Given the description of an element on the screen output the (x, y) to click on. 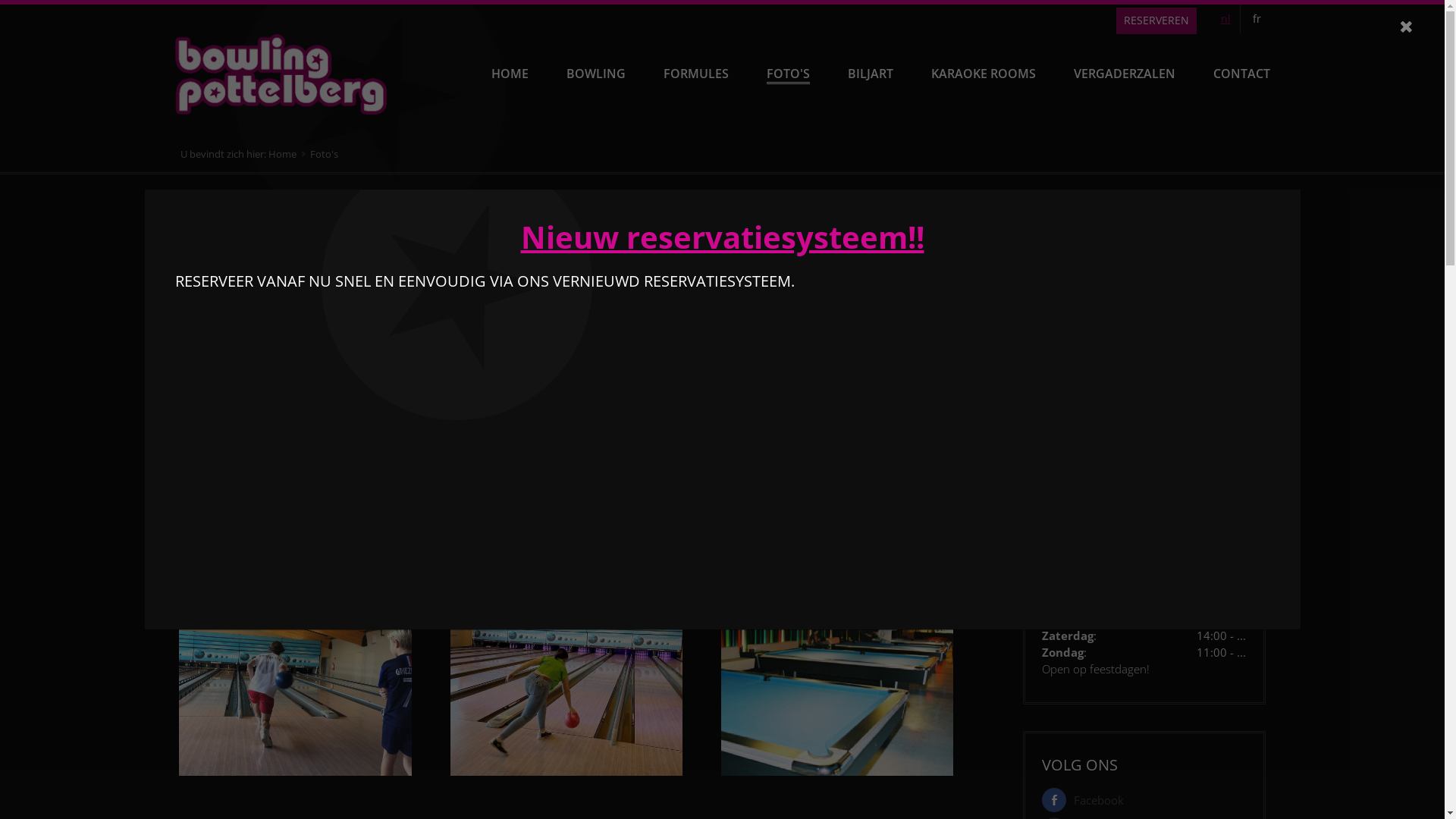
CONTACT Element type: text (1072, 391)
BILJART Element type: text (870, 74)
Home Element type: text (289, 153)
CONTACT Element type: text (1241, 74)
fr Element type: text (1256, 18)
VERGADERZALEN Element type: text (1124, 74)
HOME Element type: text (509, 74)
BOWLING Element type: text (594, 74)
FOTO'S Element type: text (787, 74)
nl Element type: text (1225, 18)
KARAOKE ROOMS Element type: text (983, 74)
FORMULES Element type: text (695, 74)
RESERVEREN Element type: text (1156, 20)
Close Element type: text (1405, 26)
info@bowlingpottelberg.be Element type: text (1110, 362)
Facebook Element type: text (1087, 799)
